Given the description of an element on the screen output the (x, y) to click on. 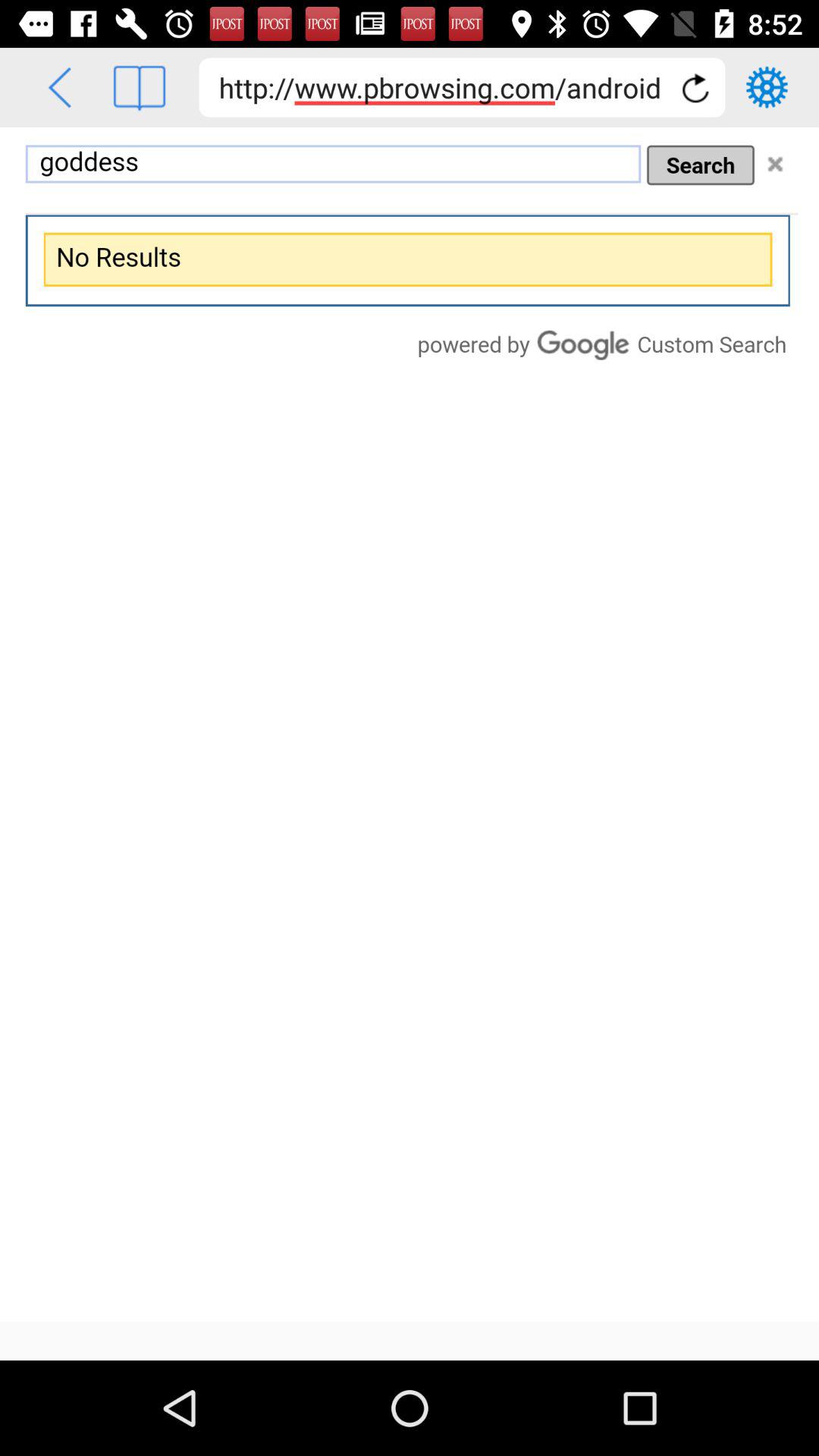
settings option (766, 87)
